Given the description of an element on the screen output the (x, y) to click on. 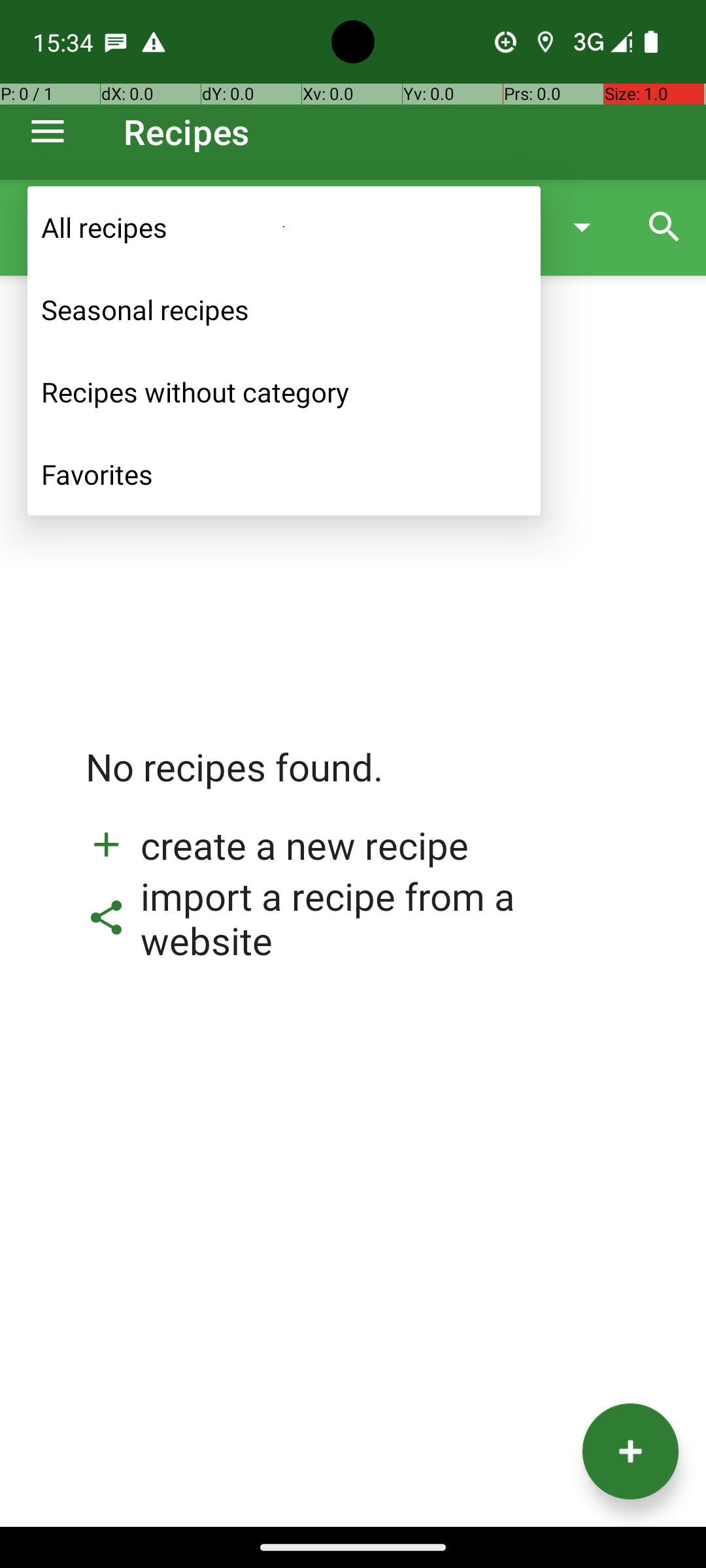
Seasonal recipes Element type: android.widget.CheckedTextView (283, 309)
